Given the description of an element on the screen output the (x, y) to click on. 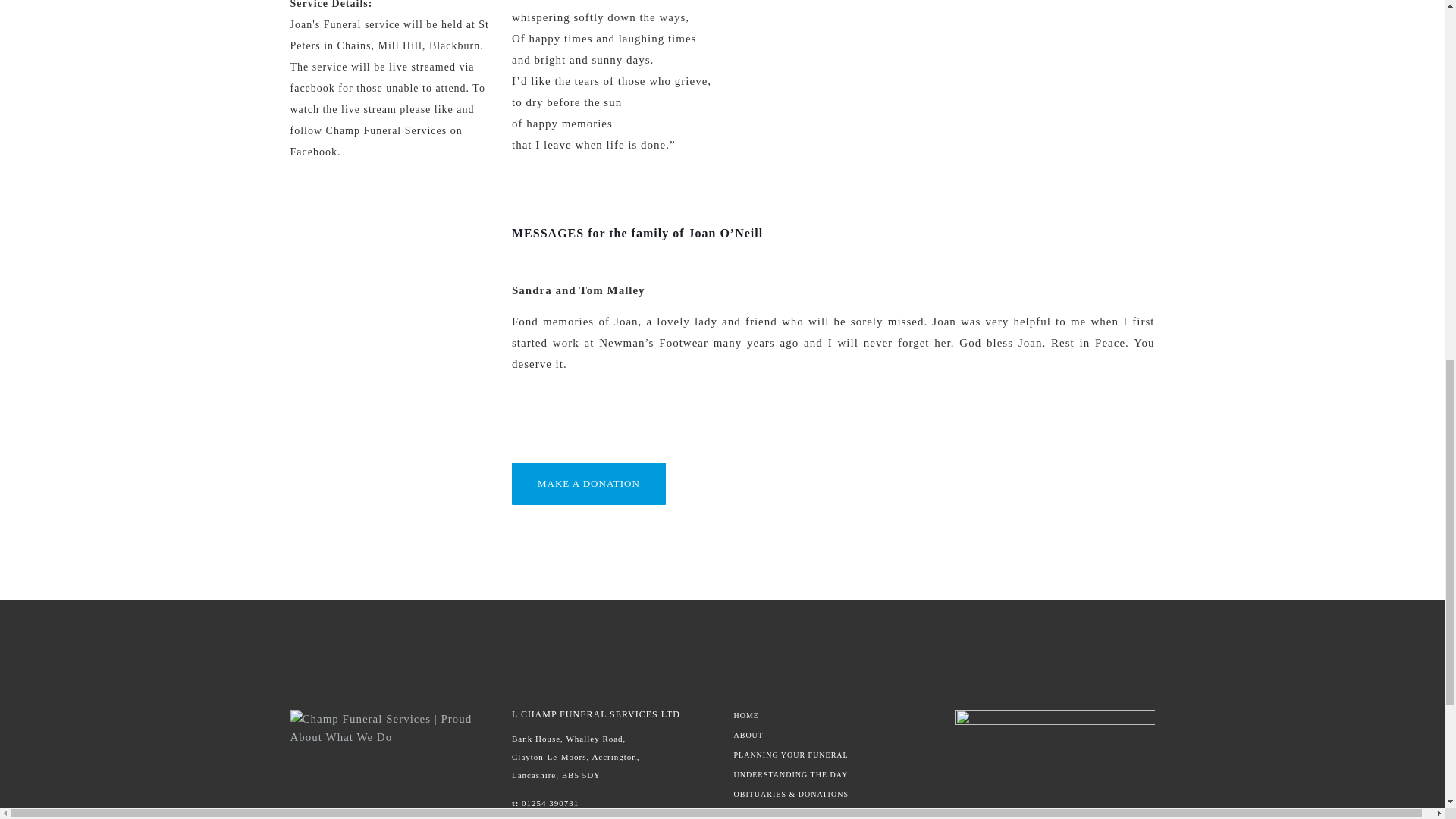
MAKE A DONATION (588, 484)
01254 390731 (549, 802)
HOME (833, 715)
JOIN OUR GRIEF GROUP (833, 813)
UNDERSTANDING THE DAY (833, 775)
PLANNING YOUR FUNERAL (833, 755)
ABOUT (833, 735)
